Given the description of an element on the screen output the (x, y) to click on. 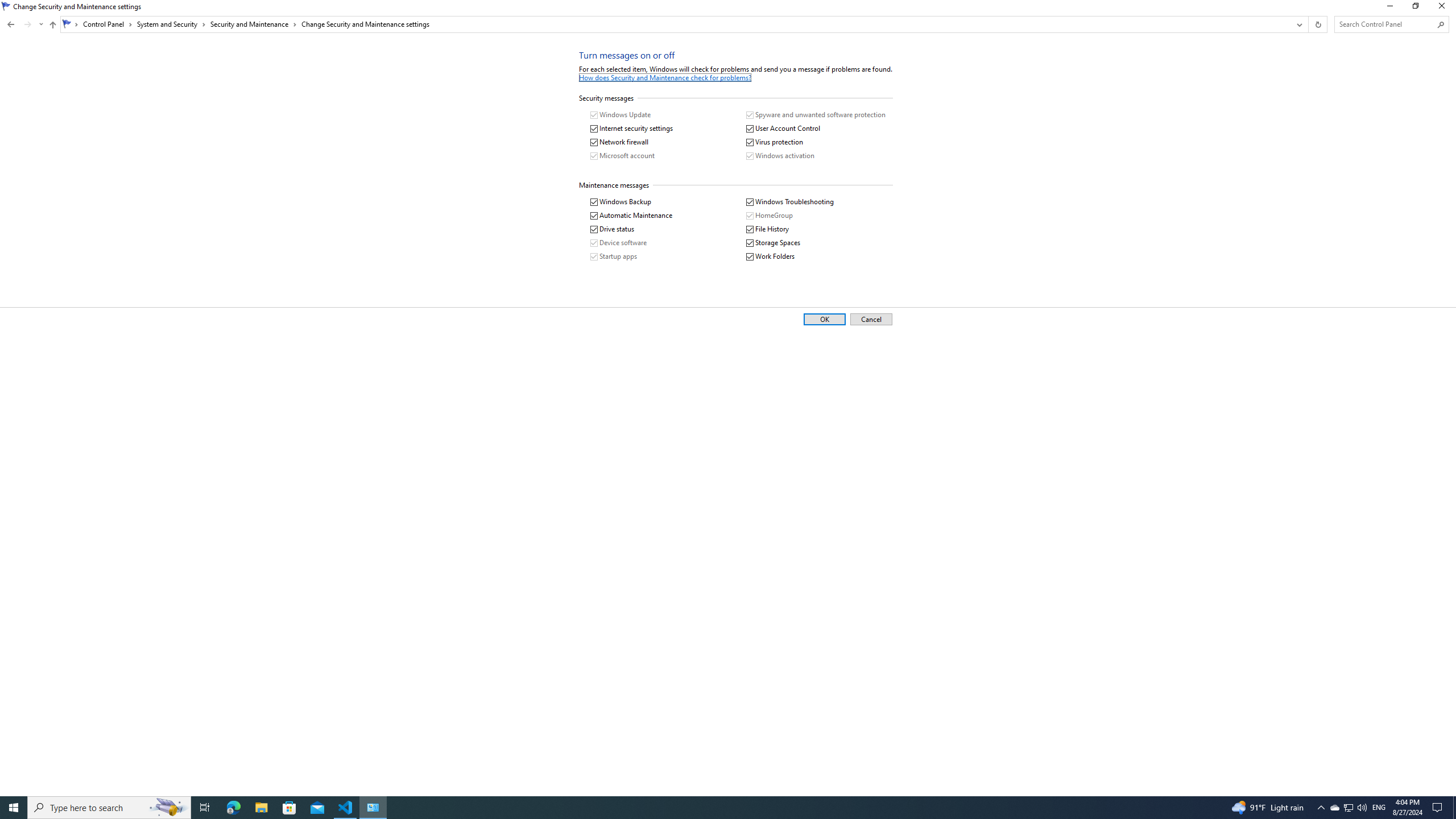
Up band toolbar (52, 26)
Spyware and unwanted software protection (815, 115)
Control Panel (107, 23)
